Given the description of an element on the screen output the (x, y) to click on. 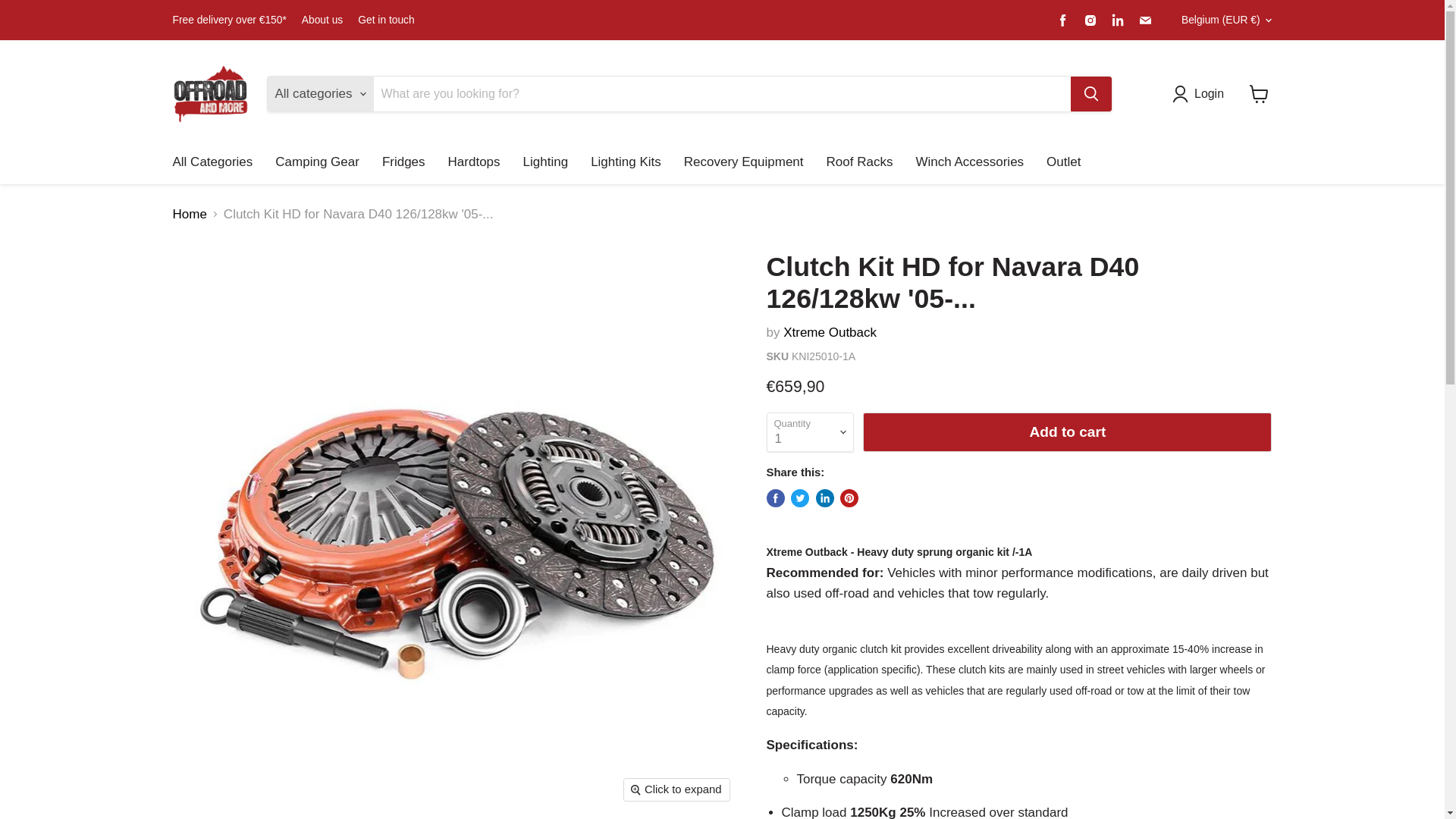
Find us on Facebook (1063, 19)
Instagram (1090, 19)
Get in touch (385, 20)
Find us on LinkedIn (1117, 19)
Find us on Instagram (1090, 19)
Facebook (1063, 19)
LinkedIn (1117, 19)
Find us on Email (1145, 19)
Email (1145, 19)
About us (321, 20)
Xtreme Outback (829, 332)
